Given the description of an element on the screen output the (x, y) to click on. 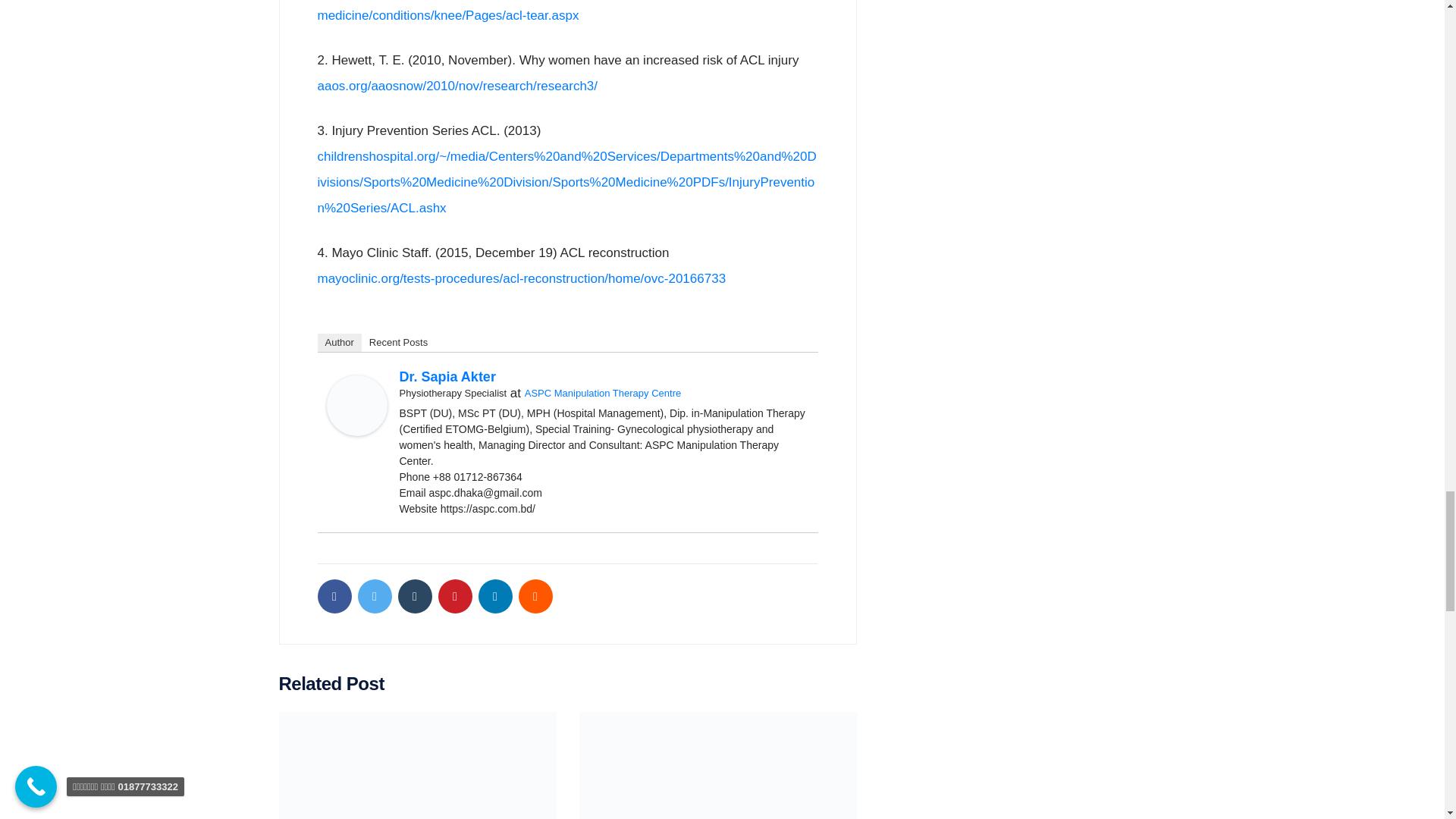
Share on Facebook (333, 596)
Share on Pinterest (454, 596)
Share on Twitter (374, 596)
Share on Tumblr (413, 596)
Share on LinkedIn (494, 596)
Dr. Sapia Akter (356, 405)
Share on Reddit (535, 596)
